Given the description of an element on the screen output the (x, y) to click on. 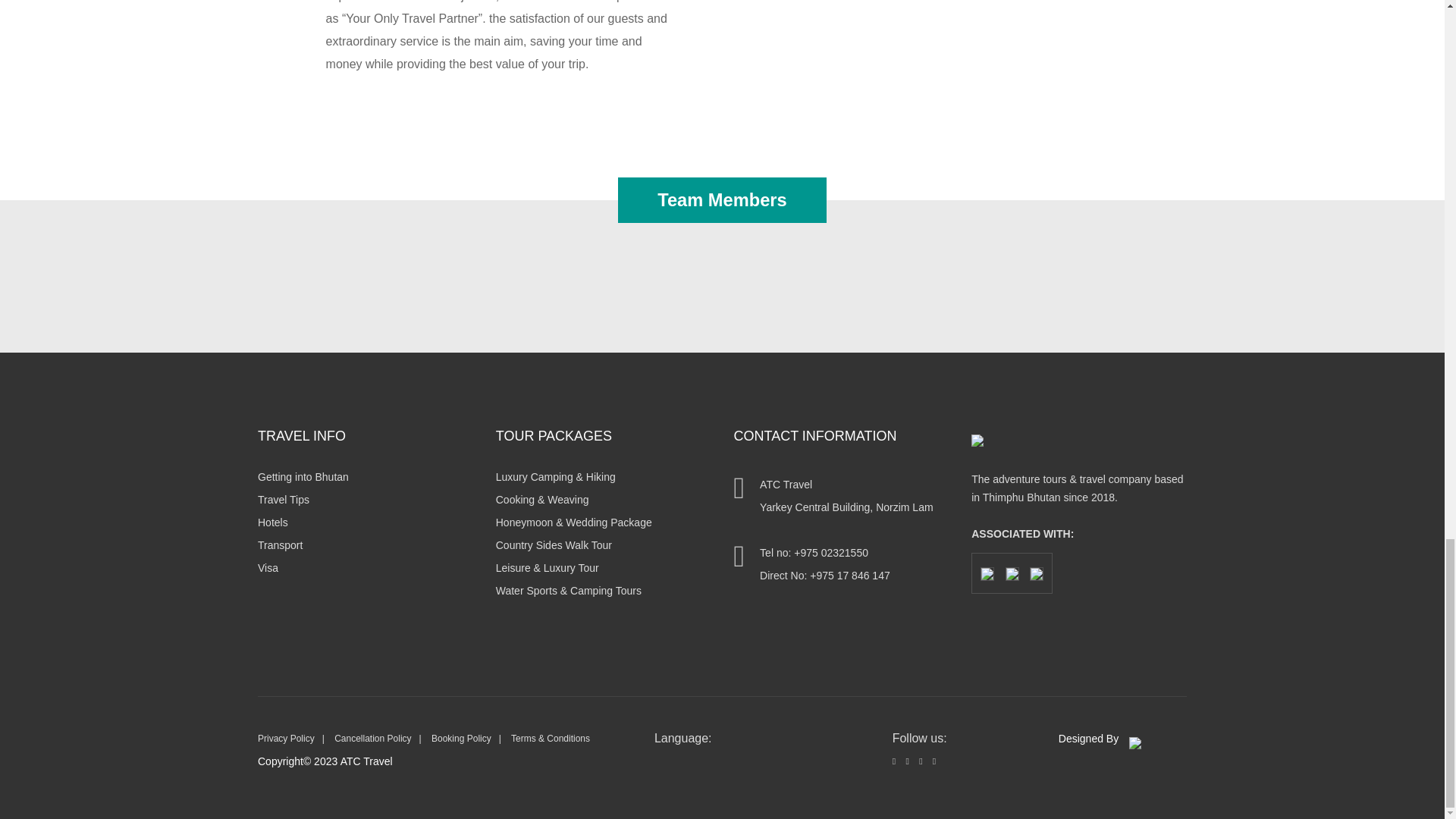
Travel Tips (282, 506)
Dutch (678, 758)
Cancellation Policy (372, 738)
Getting into Bhutan (303, 483)
Privacy Policy (285, 738)
Booking Policy (461, 738)
Hotels (272, 529)
Korean (745, 758)
Arabic (661, 758)
French (711, 758)
Country Sides Walk Tour (553, 552)
Japanese (728, 758)
English (695, 758)
Visa (267, 574)
Transport (279, 552)
